Given the description of an element on the screen output the (x, y) to click on. 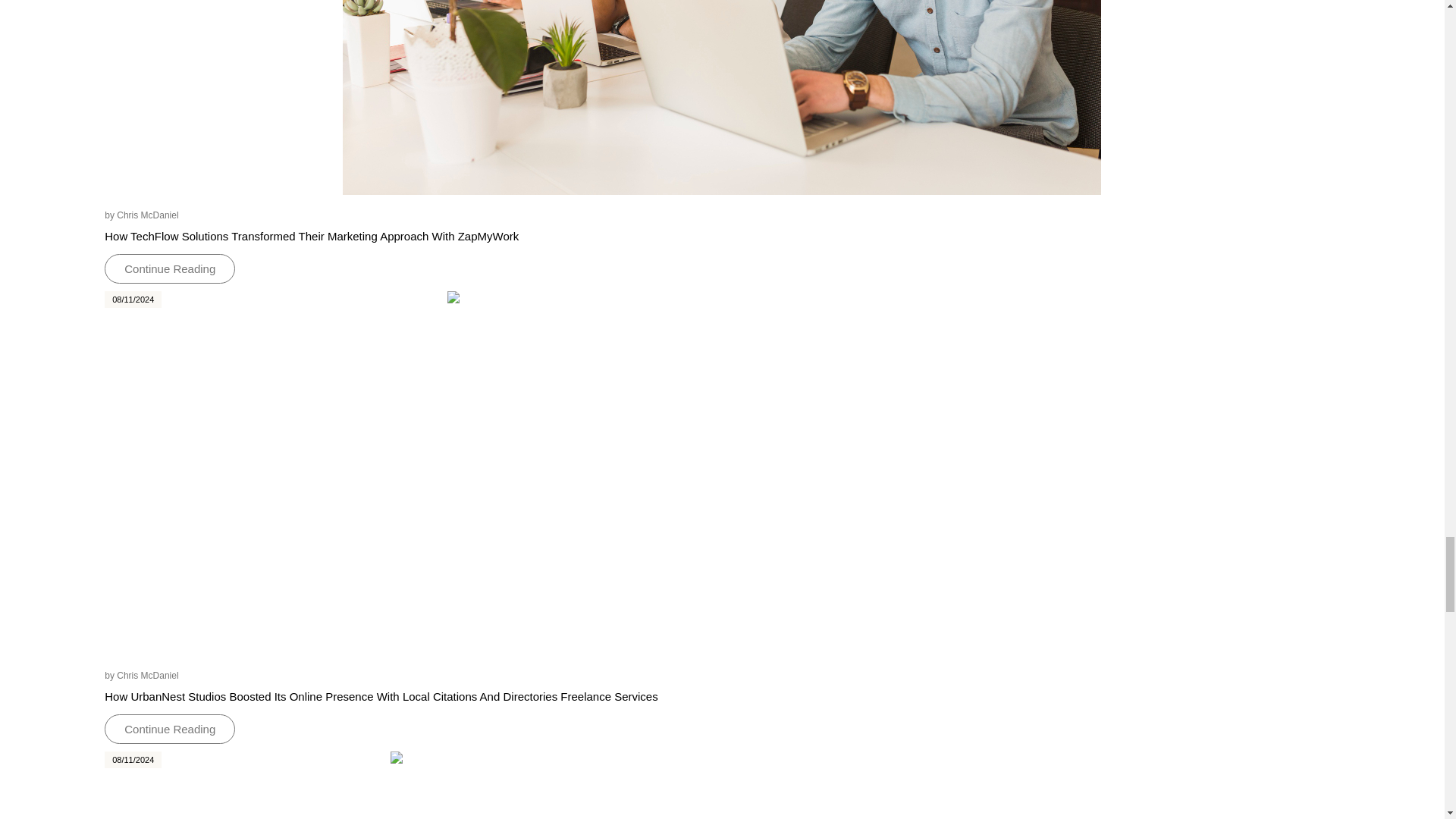
travel agency business owner (721, 785)
